Given the description of an element on the screen output the (x, y) to click on. 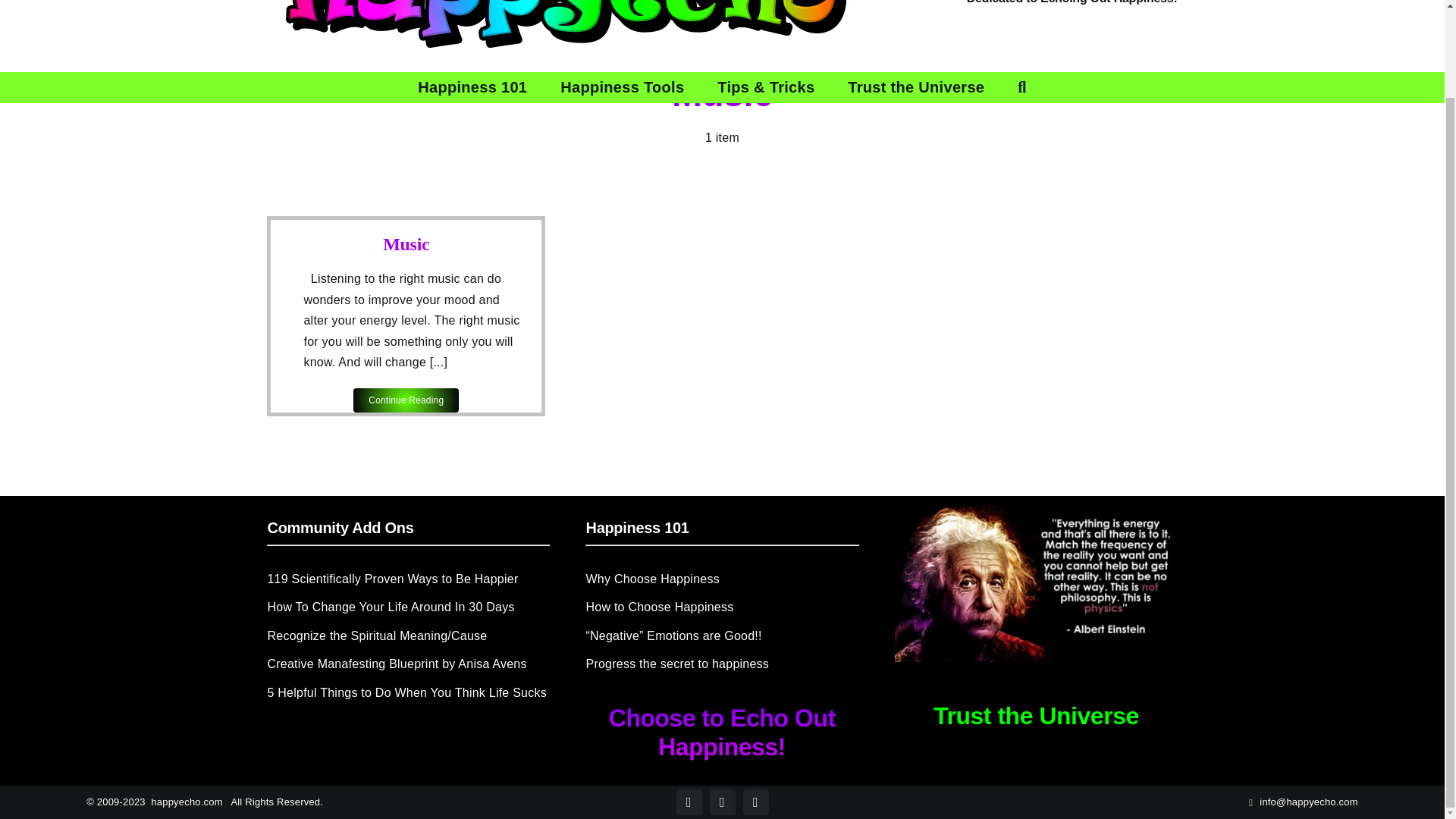
5 Helpful Things to Do When You Think Life Sucks (407, 693)
Happiness 101 (472, 87)
Why Choose Happiness (722, 579)
Trust the Universe (1035, 715)
Music (405, 243)
Search (1021, 87)
Happiness Tools (621, 87)
Progress the secret to happiness (722, 664)
Creative Manafesting Blueprint by Anisa Avens (407, 664)
law-of-attraction (1035, 582)
Continue Reading (405, 400)
Trust the Universe (916, 87)
119 Scientifically Proven Ways to Be Happier (407, 579)
How To Change Your Life Around In 30 Days (407, 608)
How to Choose Happiness (722, 608)
